Given the description of an element on the screen output the (x, y) to click on. 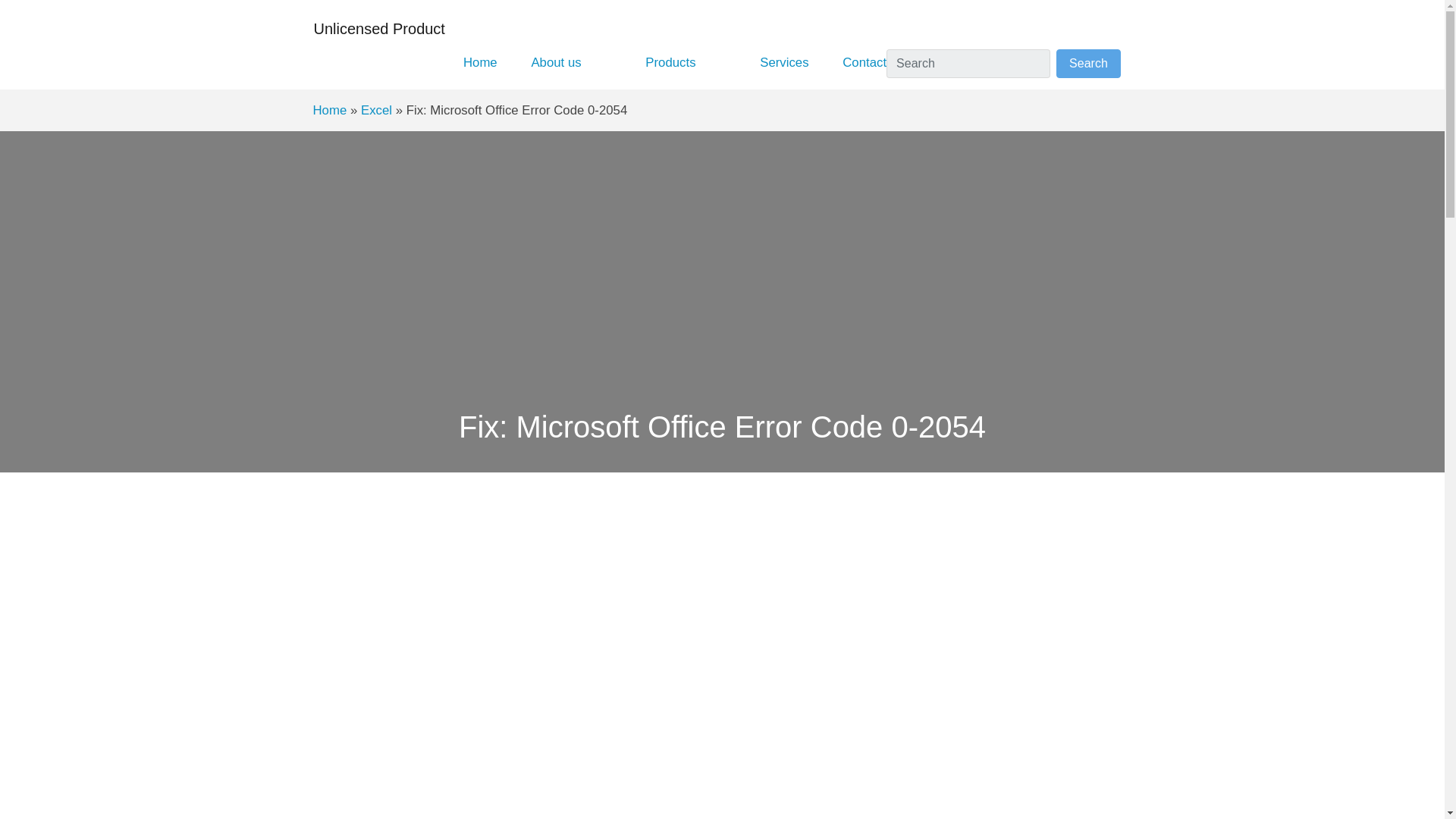
Search (1089, 63)
Products (670, 62)
Unlicensed Product (379, 28)
Home (480, 62)
Contact (864, 62)
Home (329, 110)
About us (555, 62)
Excel (376, 110)
Services (784, 62)
